Given the description of an element on the screen output the (x, y) to click on. 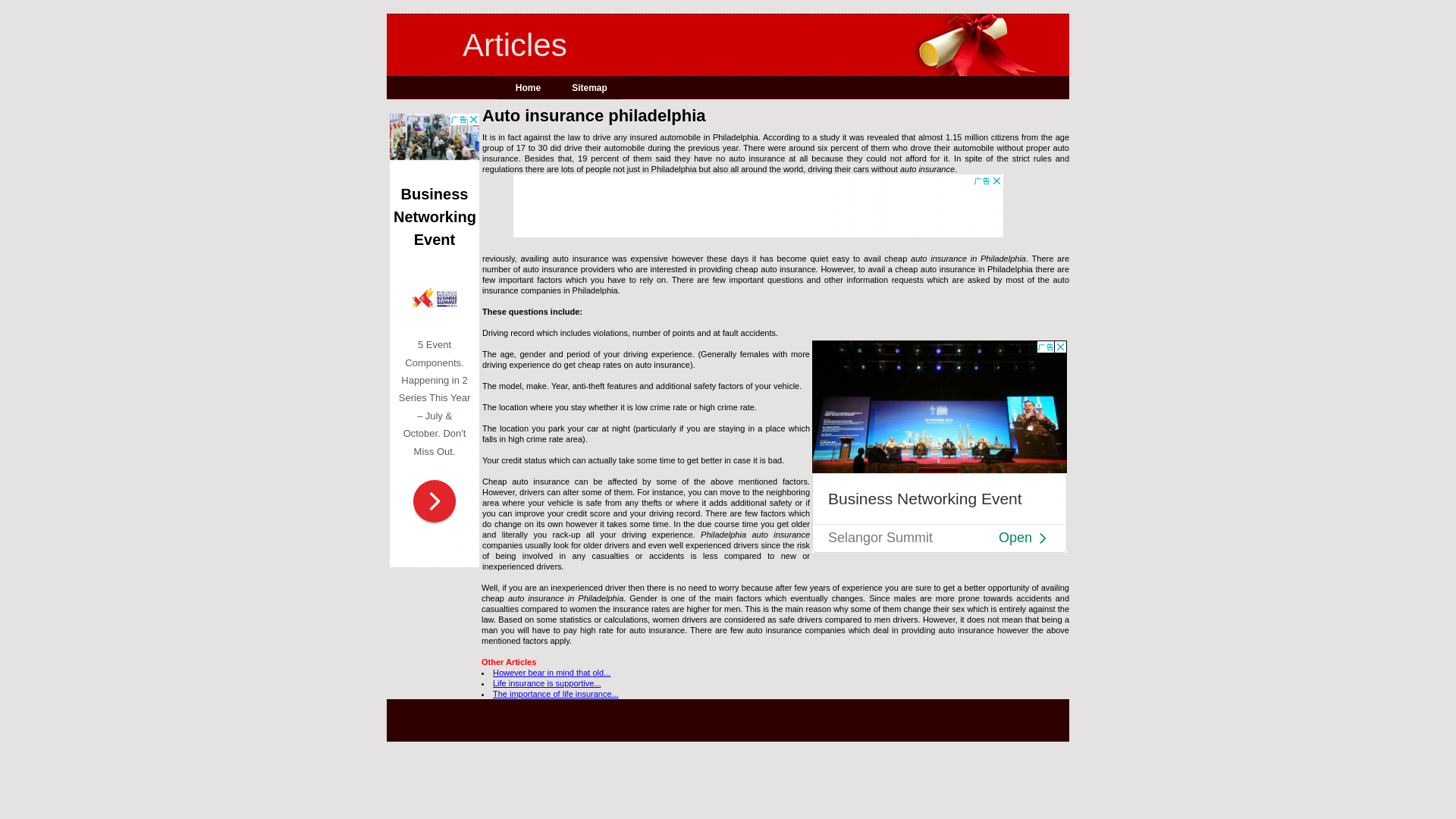
Auto insurance philadelphia (774, 115)
Auto insurance philadelphia (927, 168)
Auto insurance philadelphia (754, 533)
Auto insurance philadelphia (968, 257)
However bear in mind that old... (551, 672)
Auto insurance philadelphia (565, 597)
The importance of life insurance... (555, 693)
Advertisement (939, 446)
Advertisement (757, 208)
Sitemap (589, 87)
Home (528, 87)
Life insurance is supportive... (546, 682)
